Given the description of an element on the screen output the (x, y) to click on. 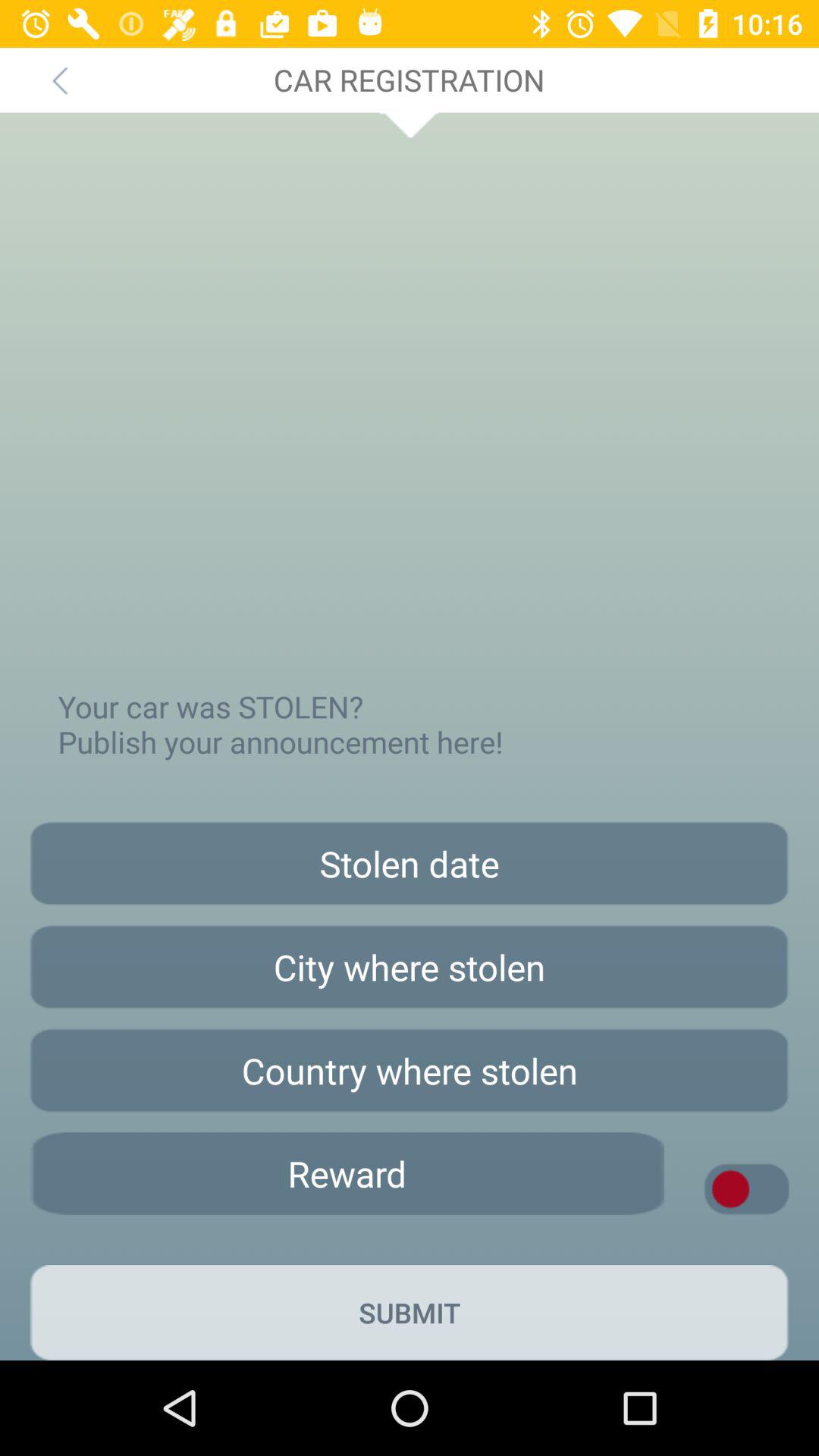
offer reward (347, 1173)
